Given the description of an element on the screen output the (x, y) to click on. 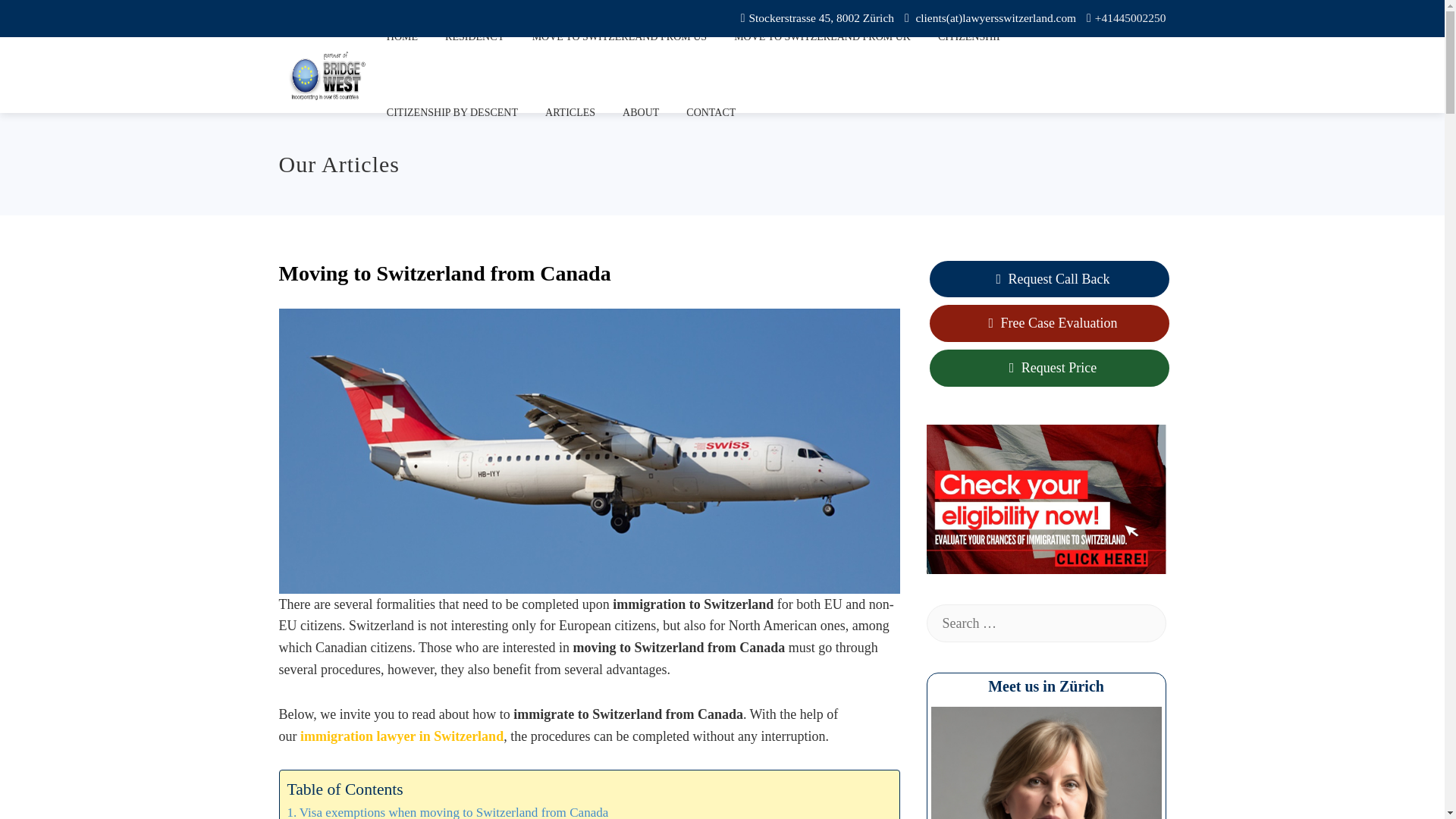
MOVE TO SWITZERLAND FROM US (620, 37)
Visa exemptions when moving to Switzerland from Canada (447, 810)
CONTACT (710, 112)
RESIDENCY (474, 37)
ARTICLES (570, 112)
Visa exemptions when moving to Switzerland from Canada (447, 810)
immigration lawyer in Switzerland (401, 735)
CITIZENSHIP BY DESCENT (452, 112)
MOVE TO SWITZERLAND FROM UK (821, 37)
CITIZENSHIP (969, 37)
